Given the description of an element on the screen output the (x, y) to click on. 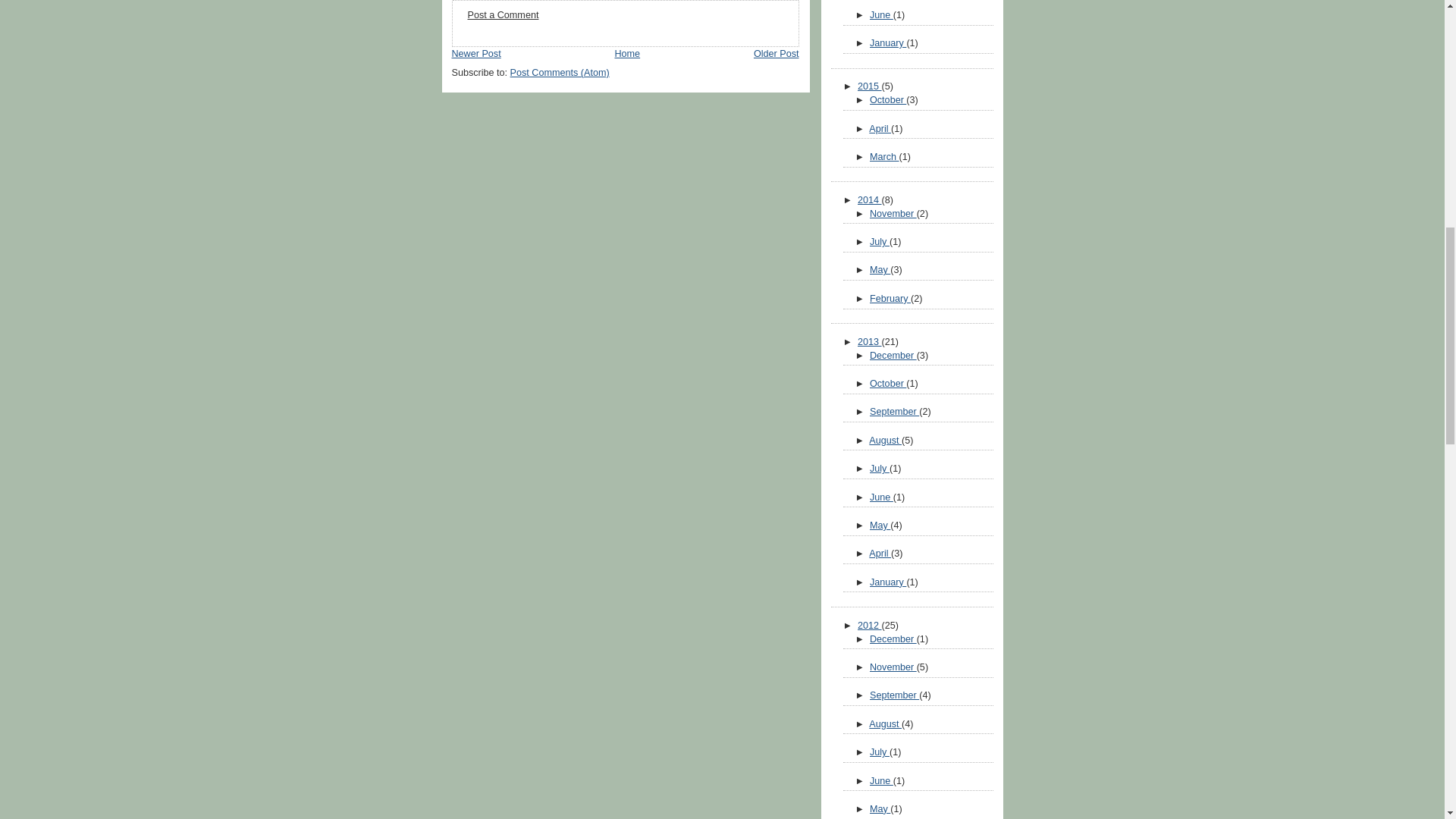
Post a Comment (502, 14)
Home (627, 53)
March (884, 156)
Newer Post (475, 53)
2014 (869, 199)
June (881, 14)
Older Post (776, 53)
April (880, 128)
July (879, 241)
November (893, 213)
January (887, 42)
October (887, 100)
2015 (869, 86)
Older Post (776, 53)
Newer Post (475, 53)
